Given the description of an element on the screen output the (x, y) to click on. 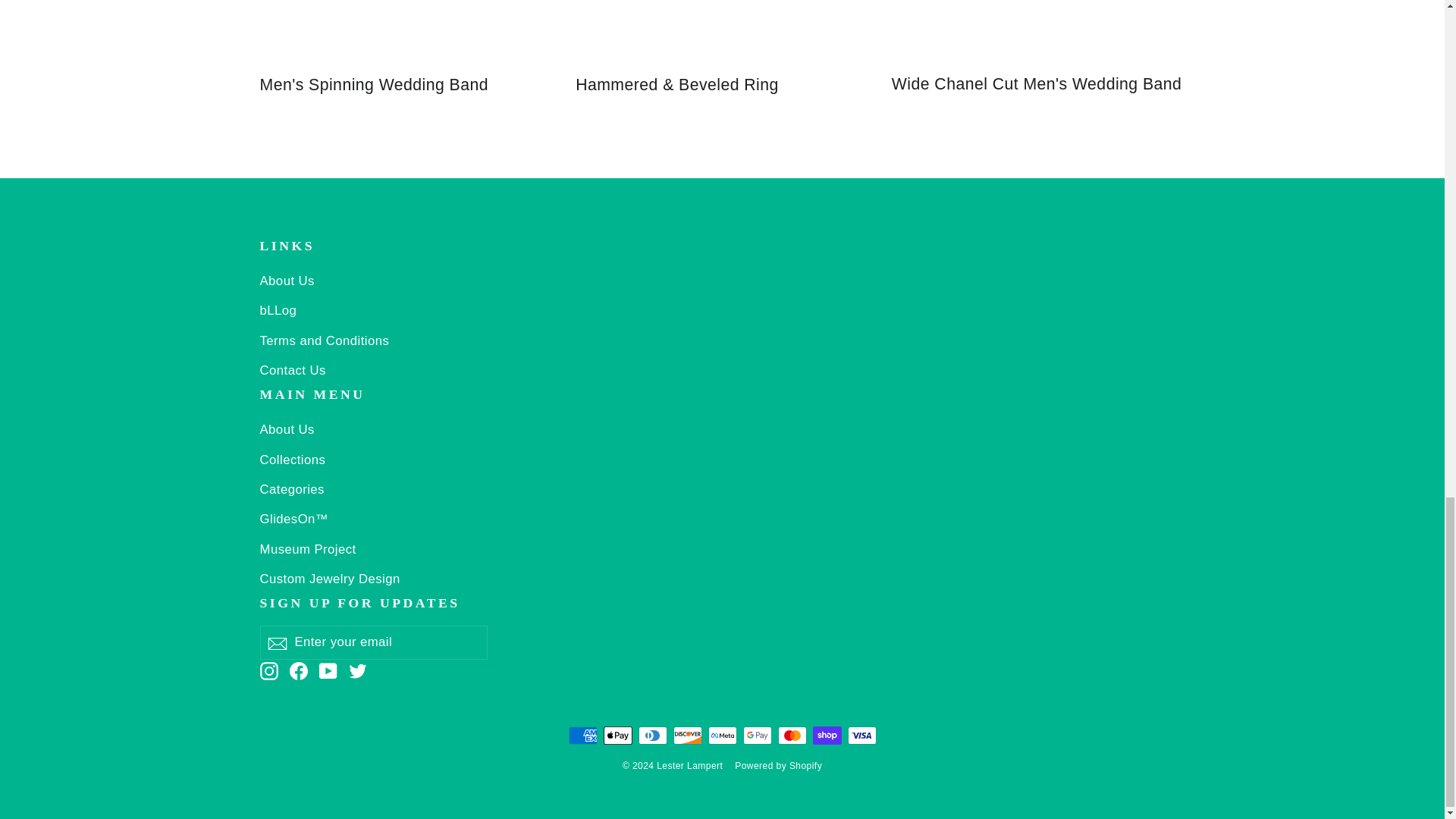
Diners Club (652, 735)
Google Pay (756, 735)
American Express (582, 735)
Meta Pay (721, 735)
Visa (861, 735)
instagram (268, 670)
Discover (686, 735)
Mastercard (791, 735)
Shop Pay (826, 735)
Apple Pay (617, 735)
